Given the description of an element on the screen output the (x, y) to click on. 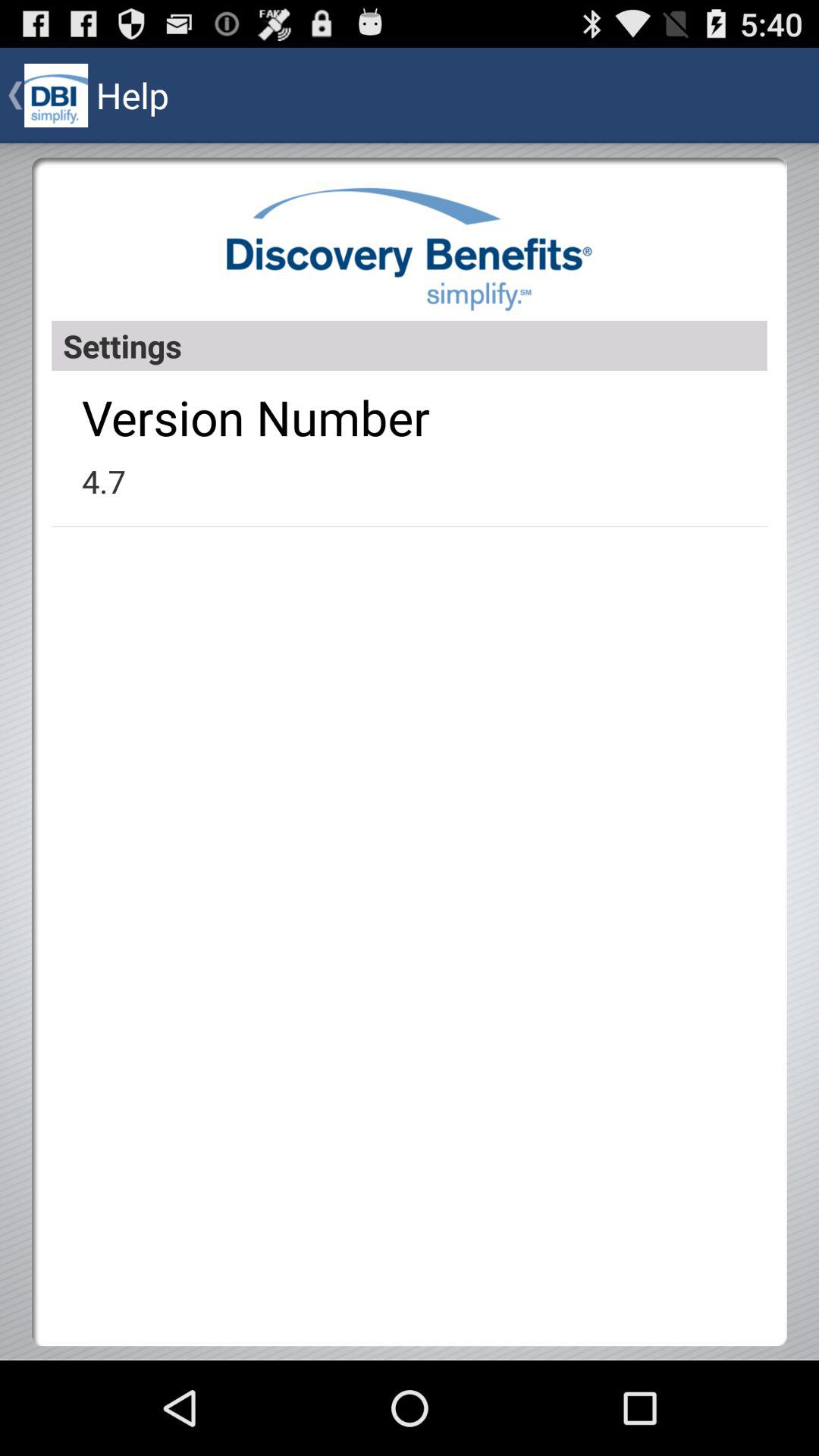
select the version number item (255, 417)
